Given the description of an element on the screen output the (x, y) to click on. 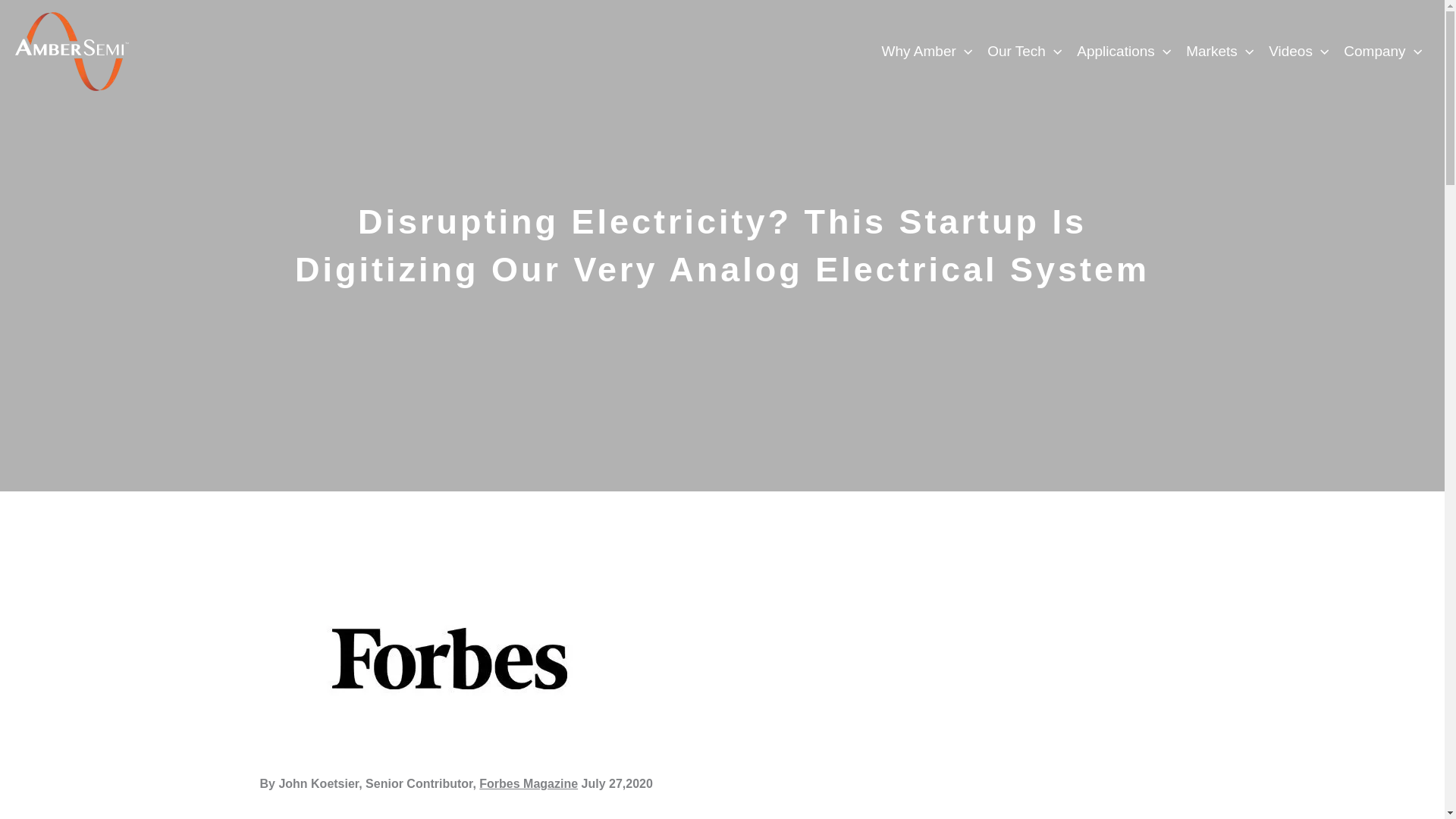
Why Amber (927, 51)
Videos (1298, 51)
Markets (1218, 51)
Our Tech (1023, 51)
Applications (1122, 51)
